Given the description of an element on the screen output the (x, y) to click on. 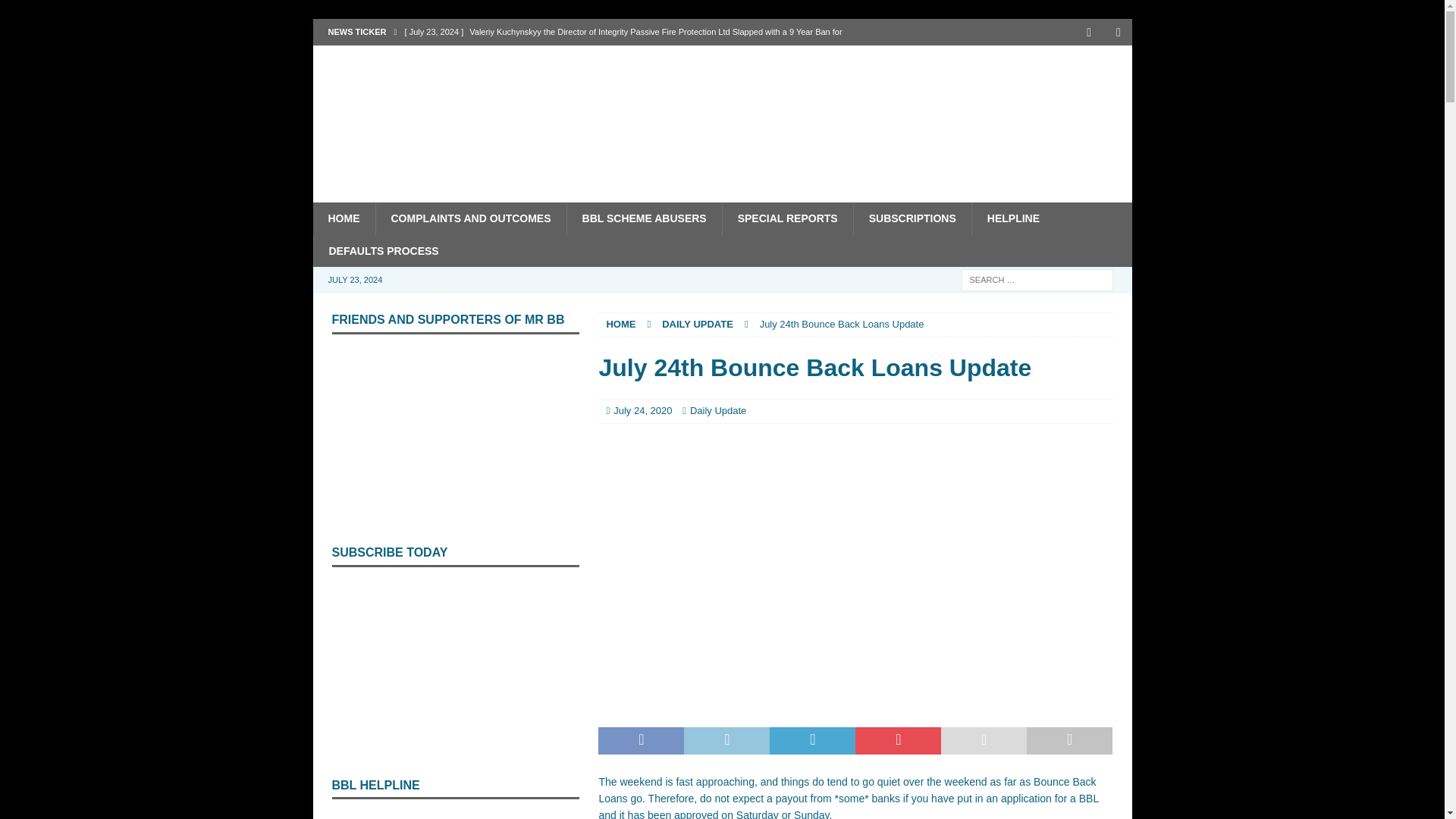
COMPLAINTS AND OUTCOMES (470, 218)
DEFAULTS PROCESS (382, 250)
BBL SCHEME ABUSERS (644, 218)
SUBSCRIPTIONS (912, 218)
HOME (343, 218)
Daily Update (717, 410)
SPECIAL REPORTS (787, 218)
HELPLINE (1012, 218)
Search (56, 11)
DAILY UPDATE (697, 324)
July 24, 2020 (641, 410)
HOME (619, 324)
